Given the description of an element on the screen output the (x, y) to click on. 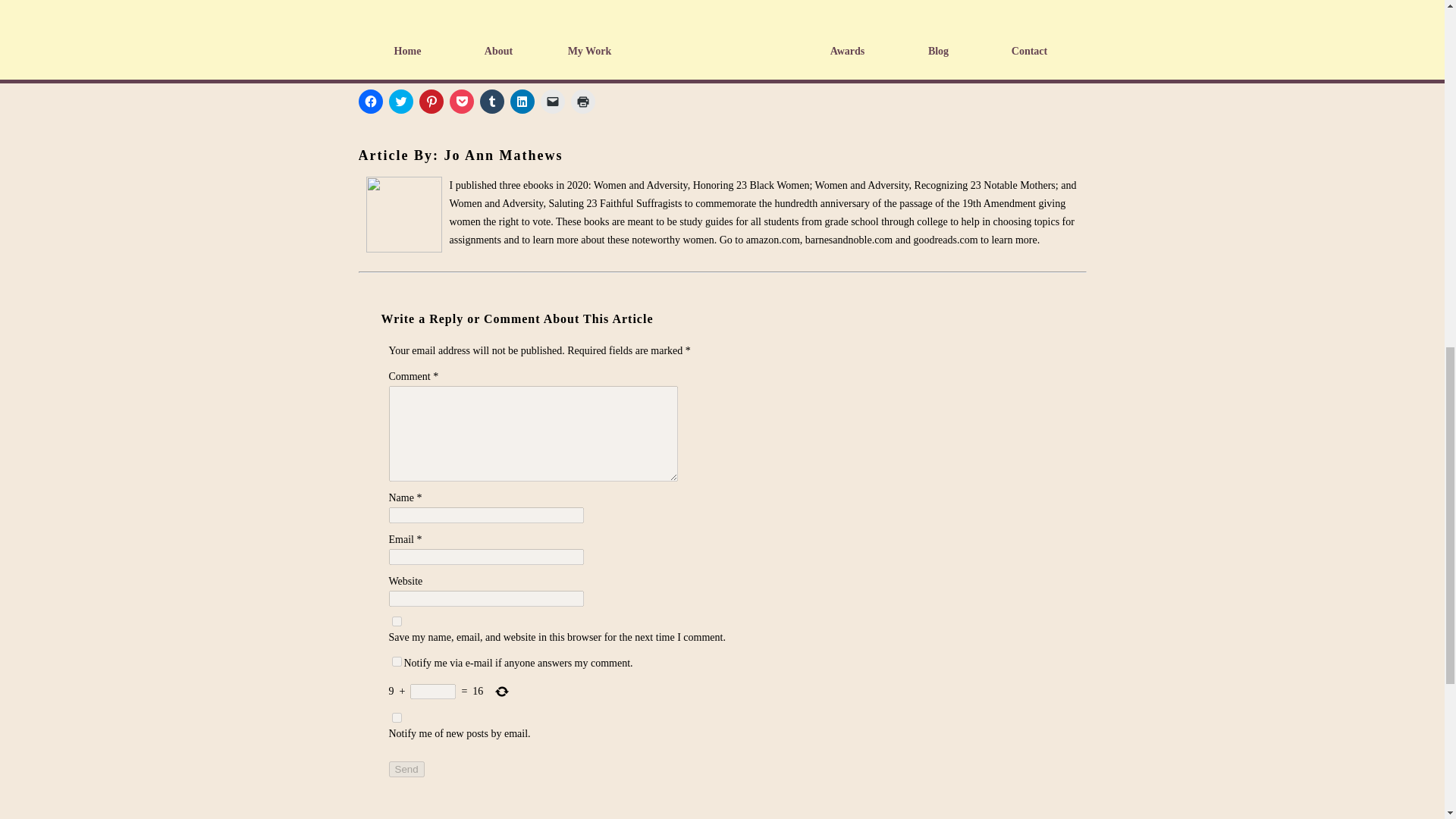
Click to share on LinkedIn (521, 101)
Send (405, 769)
Subscribe (411, 14)
on (396, 661)
Click to share on Twitter (400, 101)
Click to share on Pinterest (430, 101)
yes (396, 621)
Click to share on Facebook (369, 101)
subscribe (396, 717)
Click to print (582, 101)
